Given the description of an element on the screen output the (x, y) to click on. 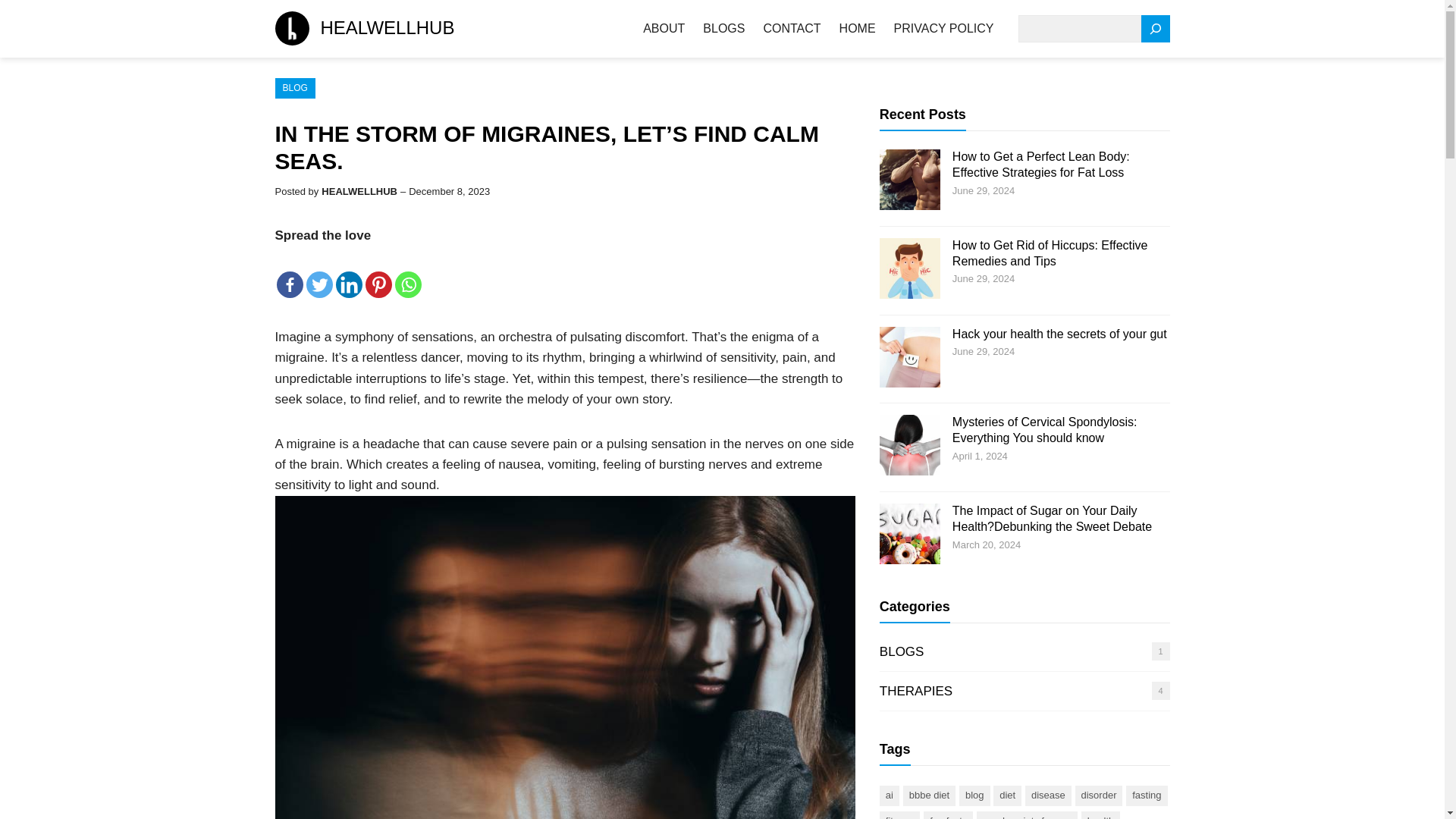
How to Get Rid of Hiccups: Effective Remedies and Tips (1050, 253)
BLOG (294, 87)
ABOUT (663, 28)
THERAPIES (915, 690)
HOME (858, 28)
ai (889, 795)
BLOGS (901, 651)
PRIVACY POLICY (943, 28)
